Given the description of an element on the screen output the (x, y) to click on. 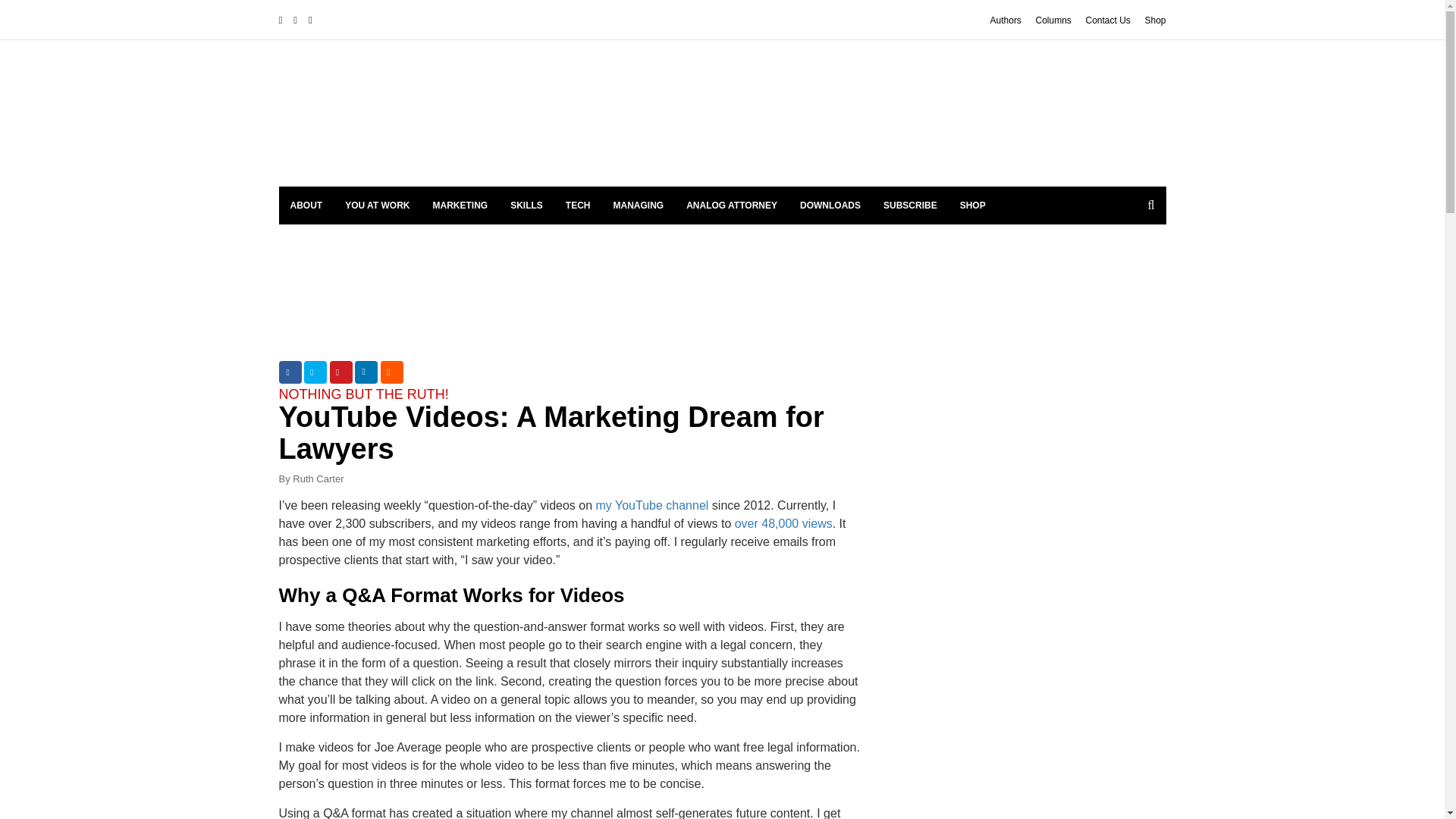
MARKETING (460, 205)
Shop (1155, 20)
TECH (578, 205)
Contact Us (1106, 20)
Marketing (460, 205)
SKILLS (526, 205)
Authors (1006, 20)
ABOUT (306, 205)
You At Work (376, 205)
YOU AT WORK (376, 205)
About (306, 205)
Columns (1053, 20)
MANAGING (638, 205)
